Given the description of an element on the screen output the (x, y) to click on. 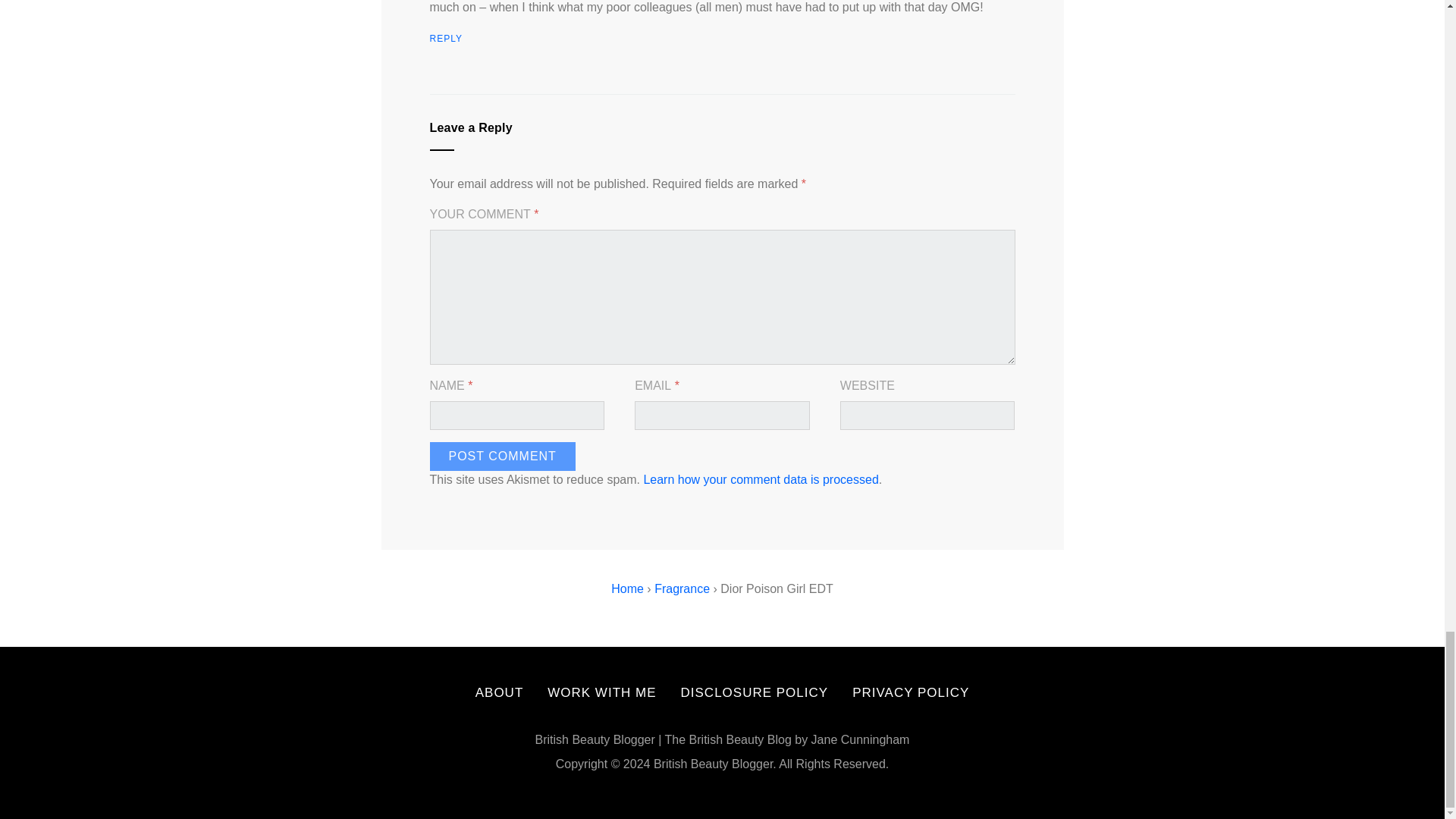
Post Comment (502, 456)
